Given the description of an element on the screen output the (x, y) to click on. 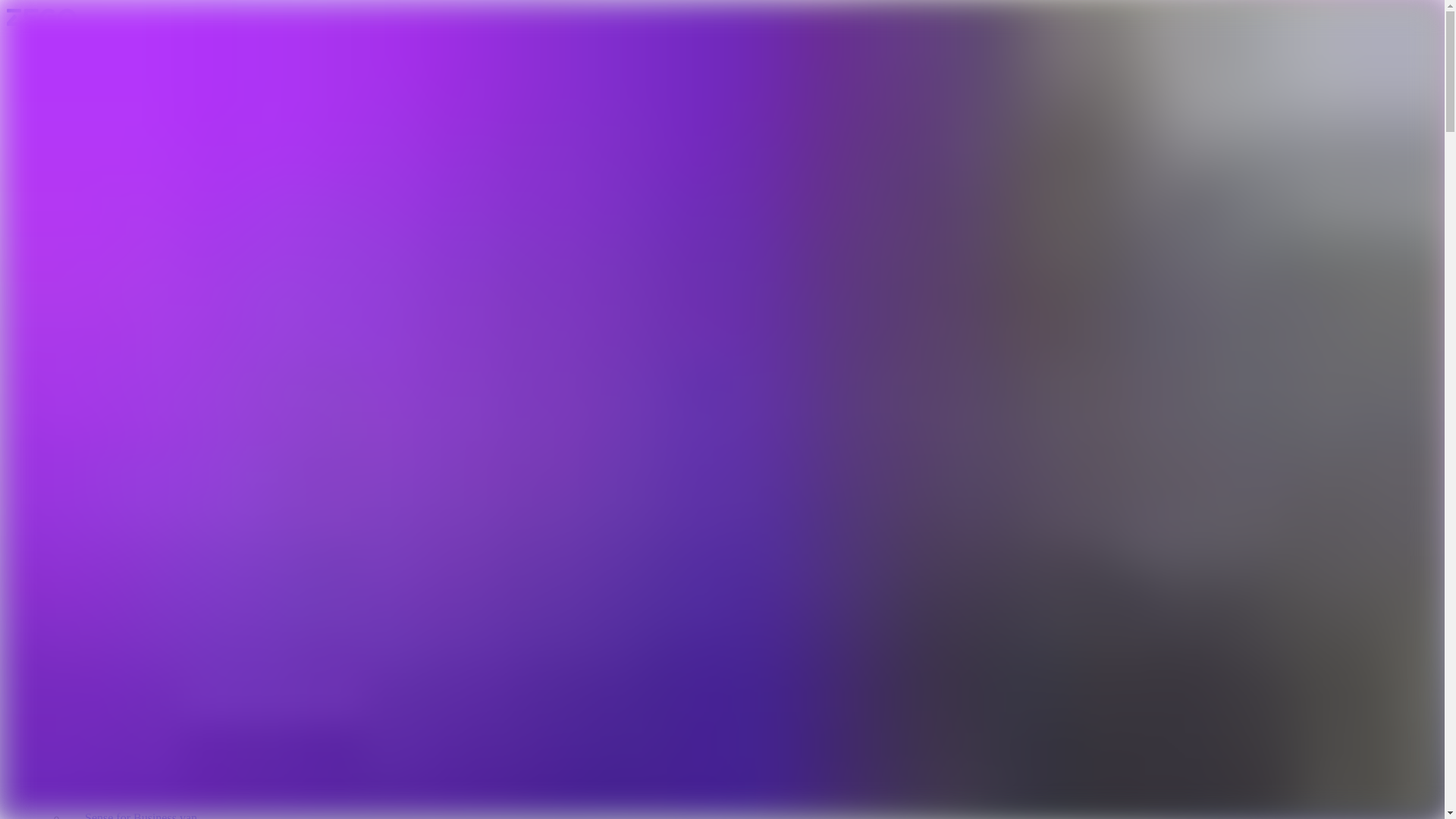
Car Delivery Insurance (141, 268)
Business Van Insurance (142, 758)
Just Eat Delivery Insurance (151, 504)
Sense for Business van (140, 815)
Courier Van Insurance (138, 386)
Uber Eats Delivery Insurance (156, 563)
Scooter Delivery Insurance (150, 327)
Private Hire Insurance (138, 74)
Deliveroo Insurance (133, 445)
Courier Van Insurance (138, 698)
